Given the description of an element on the screen output the (x, y) to click on. 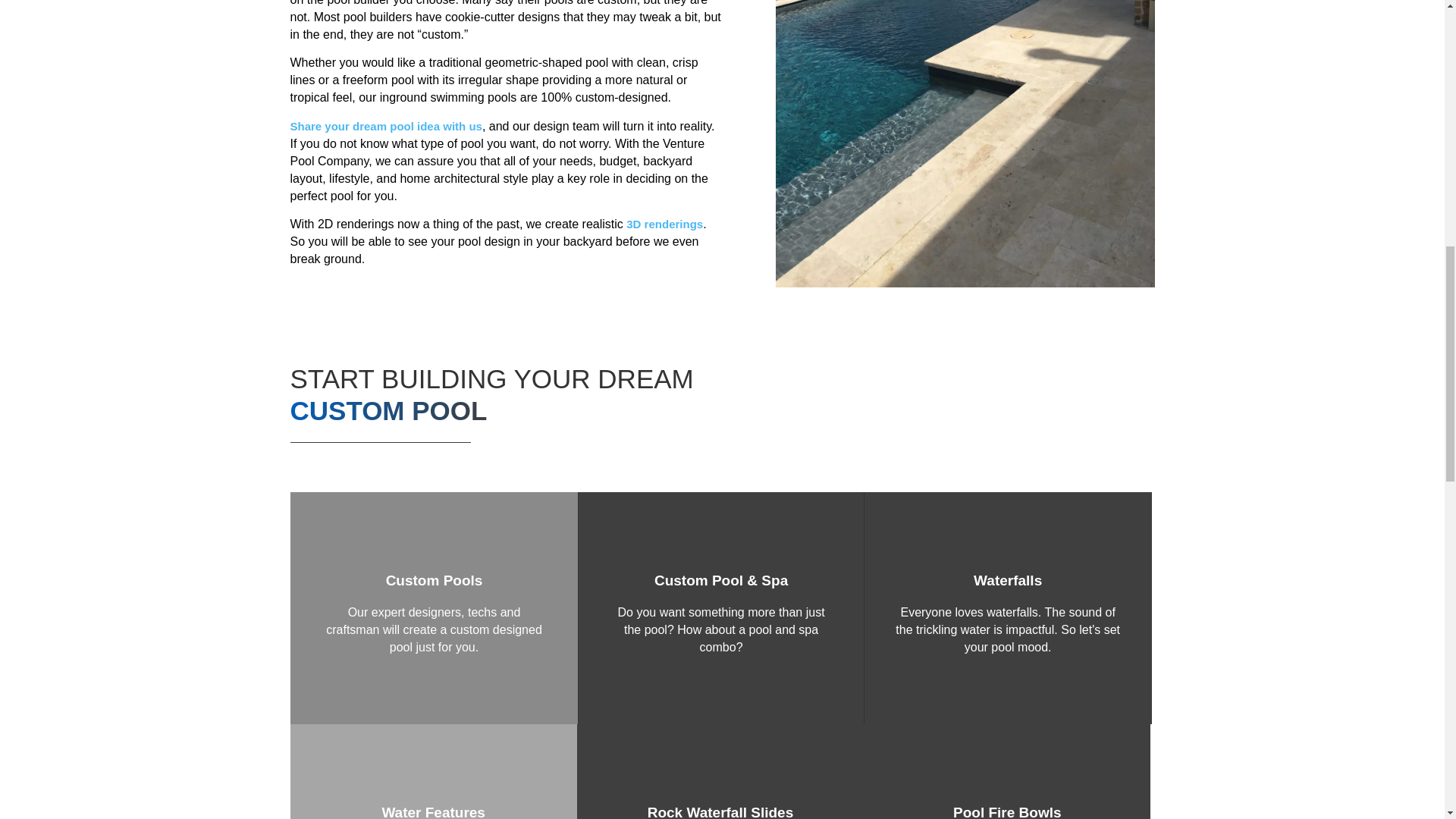
3D renderings (664, 223)
Share your dream pool idea with us (385, 125)
